Given the description of an element on the screen output the (x, y) to click on. 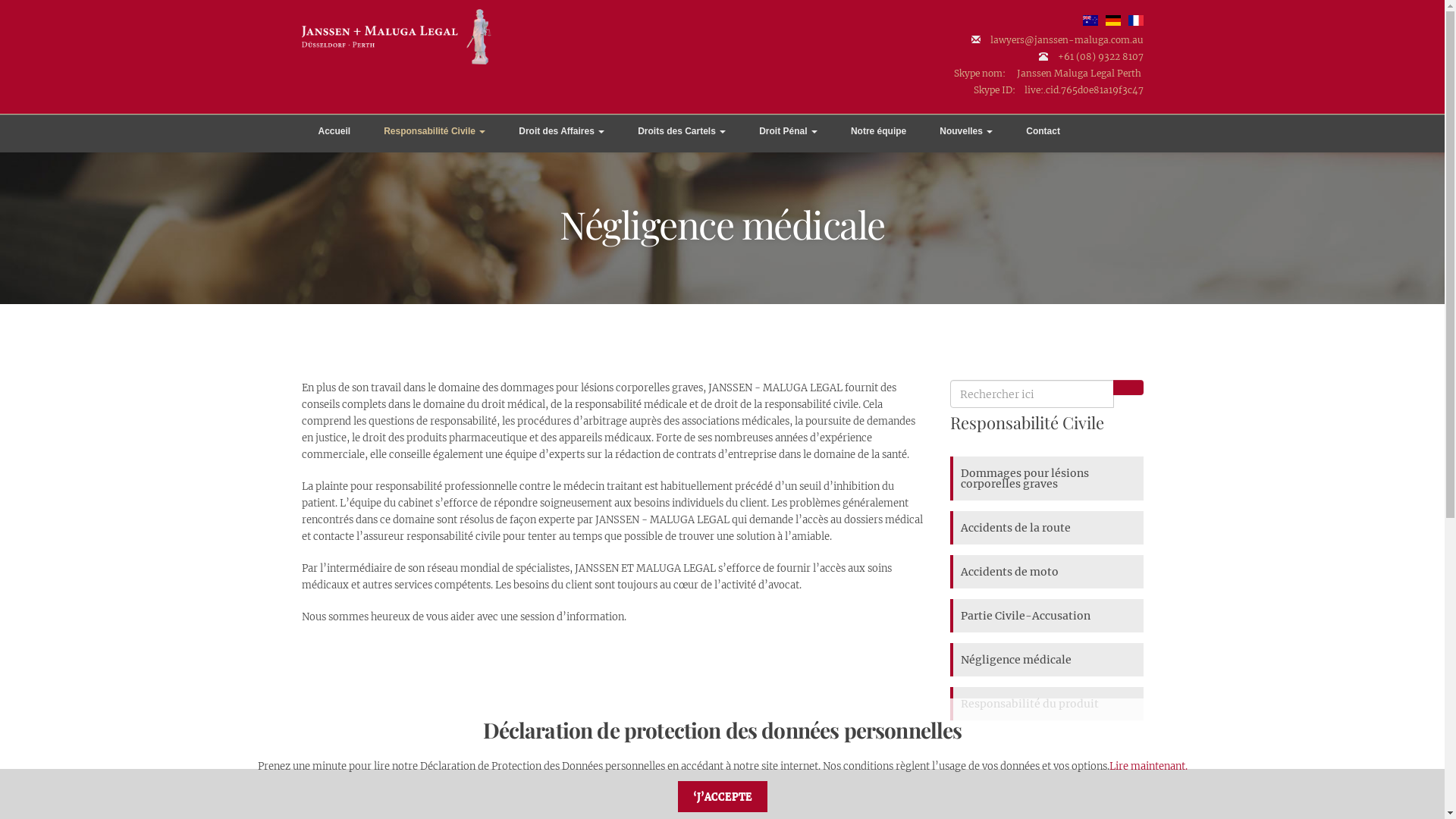
Nouvelles Element type: text (965, 134)
Accidents de la route Element type: text (1047, 527)
Contact Element type: text (1042, 134)
Droit des Affaires Element type: text (561, 134)
Lire maintenant. Element type: text (1147, 765)
Accueil Element type: text (334, 134)
live:.cid.765d0e81a19f3c47 Element type: text (1082, 89)
+61 (08) 9322 8107 Element type: text (1099, 56)
Accidents de moto Element type: text (1047, 571)
Partie Civile-Accusation Element type: text (1047, 615)
Janssen Maluga Legal Perth Element type: text (1078, 72)
lawyers@janssen-maluga.com.au Element type: text (1066, 39)
Droits des Cartels Element type: text (681, 134)
